Given the description of an element on the screen output the (x, y) to click on. 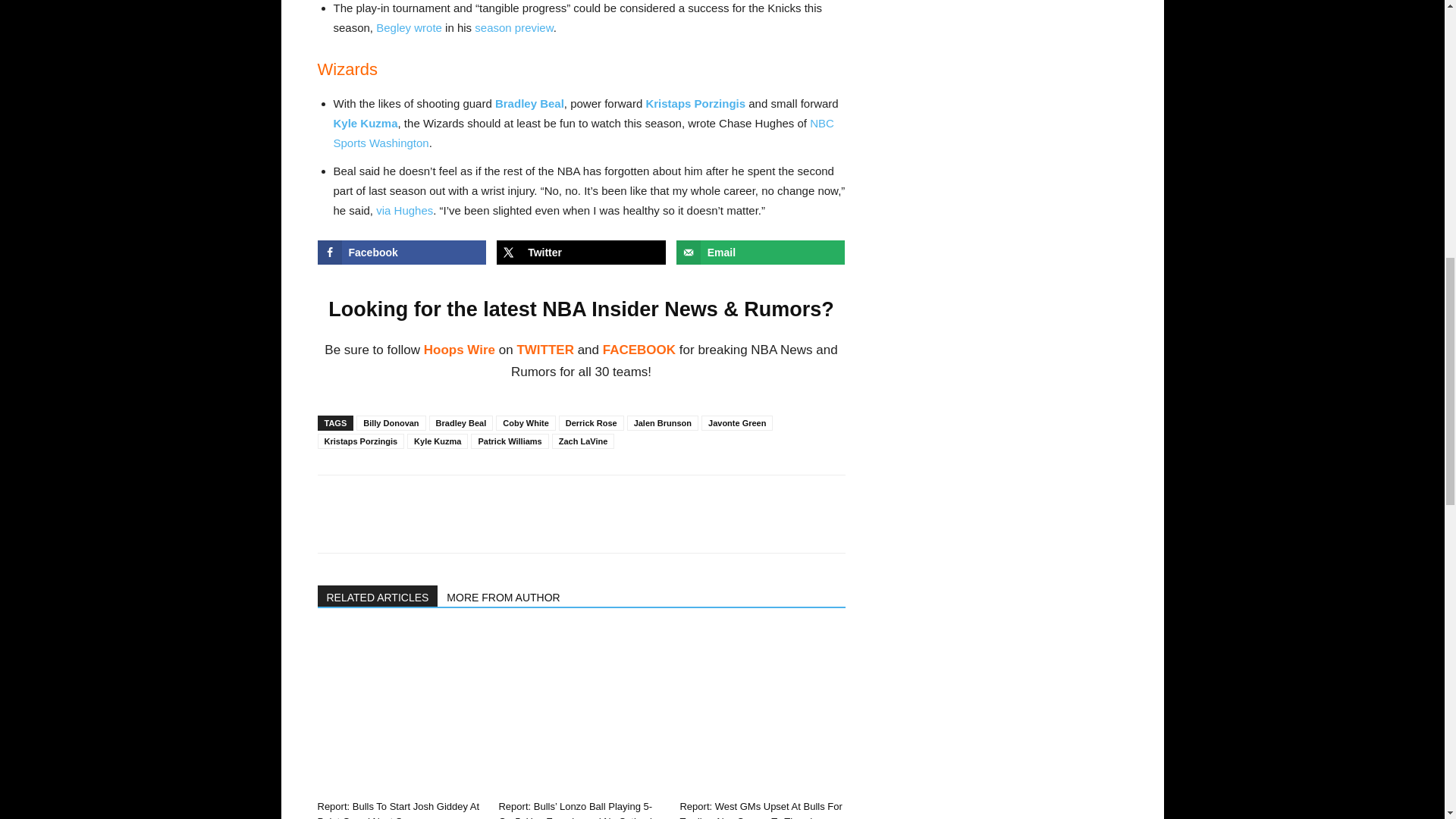
Share on X (580, 252)
Send over email (761, 252)
Share on Facebook (401, 252)
